Given the description of an element on the screen output the (x, y) to click on. 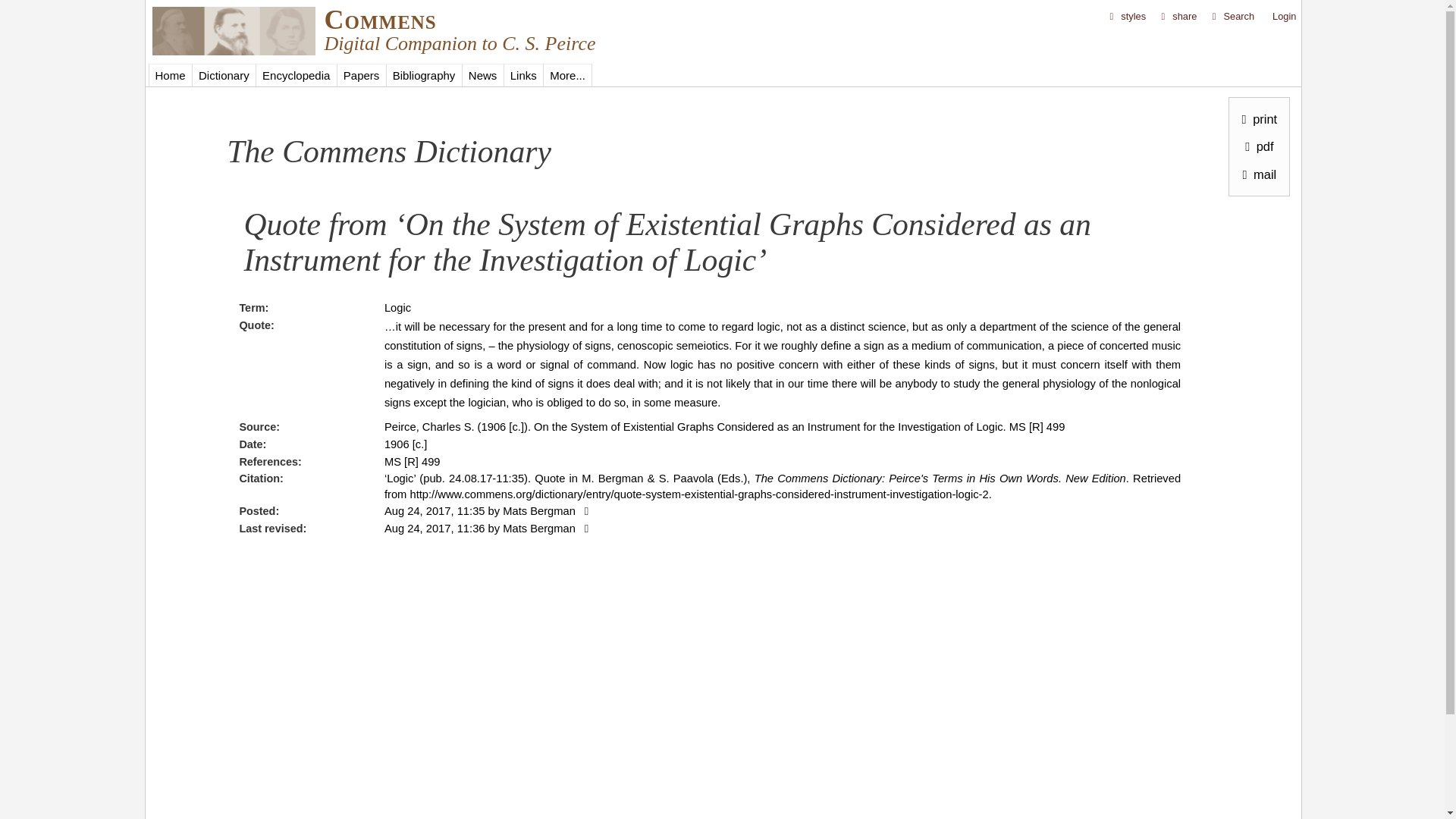
Papers (360, 74)
Home (232, 51)
Search Commens (1232, 16)
Share this page on social media (1177, 16)
News (482, 74)
Download this Dictionary Entry as a pdf file (1256, 146)
Dictionary (224, 74)
Bibliography (423, 74)
More... (567, 74)
Send a message to reviser (584, 528)
